Given the description of an element on the screen output the (x, y) to click on. 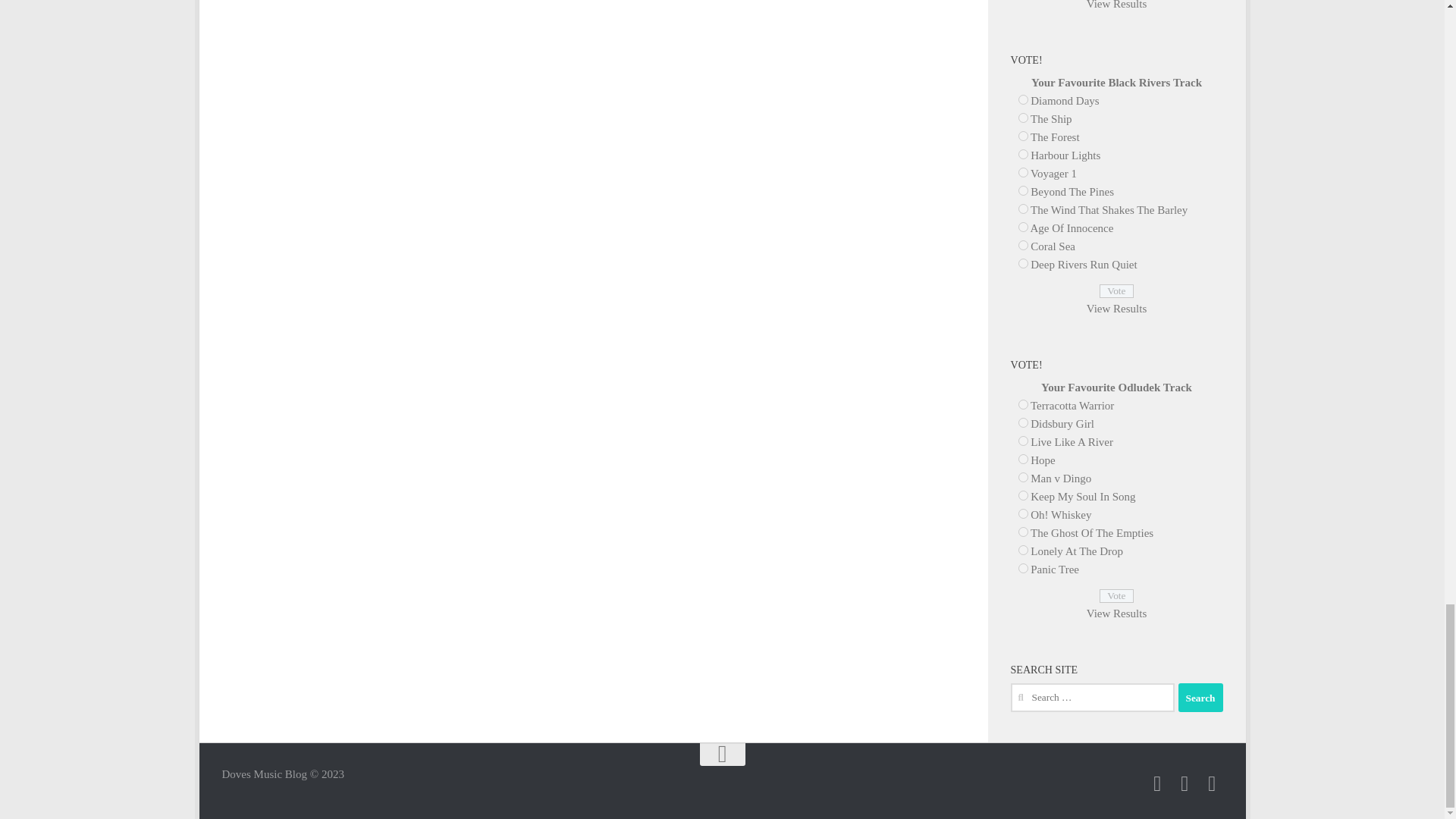
View Results Of This Poll (1116, 308)
34 (1022, 99)
View Results Of This Poll (1116, 4)
View Results Of This Poll (1116, 613)
Search (1200, 697)
